Given the description of an element on the screen output the (x, y) to click on. 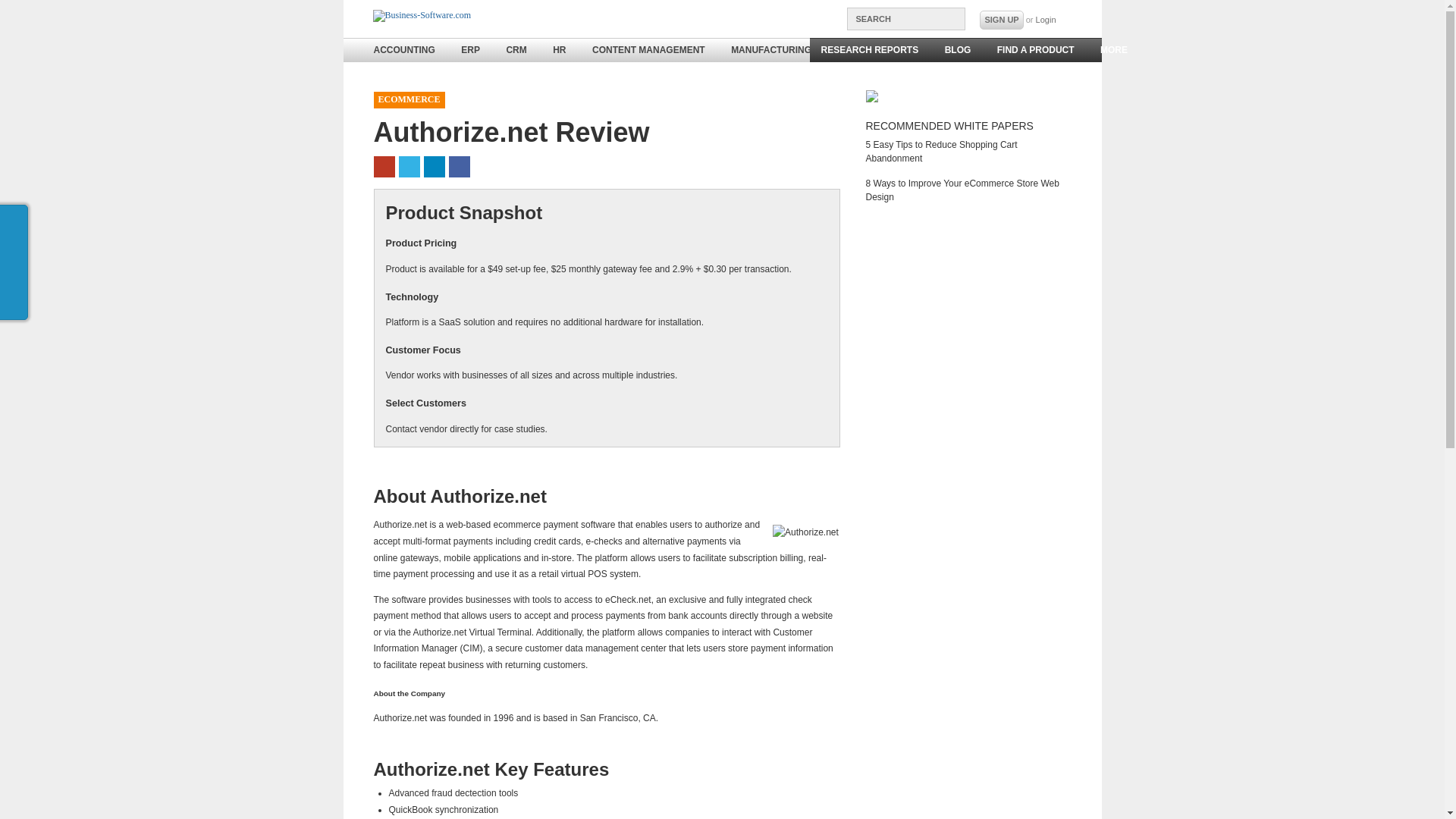
LOGIN (1046, 19)
Login (1046, 19)
Authorize.net (805, 532)
ERP (470, 49)
CONTENT MANAGEMENT (648, 49)
SIGN UP (1001, 19)
FIND A PRODUCT (1035, 49)
CRM (516, 49)
SIGN UP (1001, 19)
BLOG (957, 49)
SEARCH (906, 18)
SEARCH (906, 18)
HR (558, 49)
MANUFACTURING (770, 49)
RESEARCH REPORTS (869, 49)
